Given the description of an element on the screen output the (x, y) to click on. 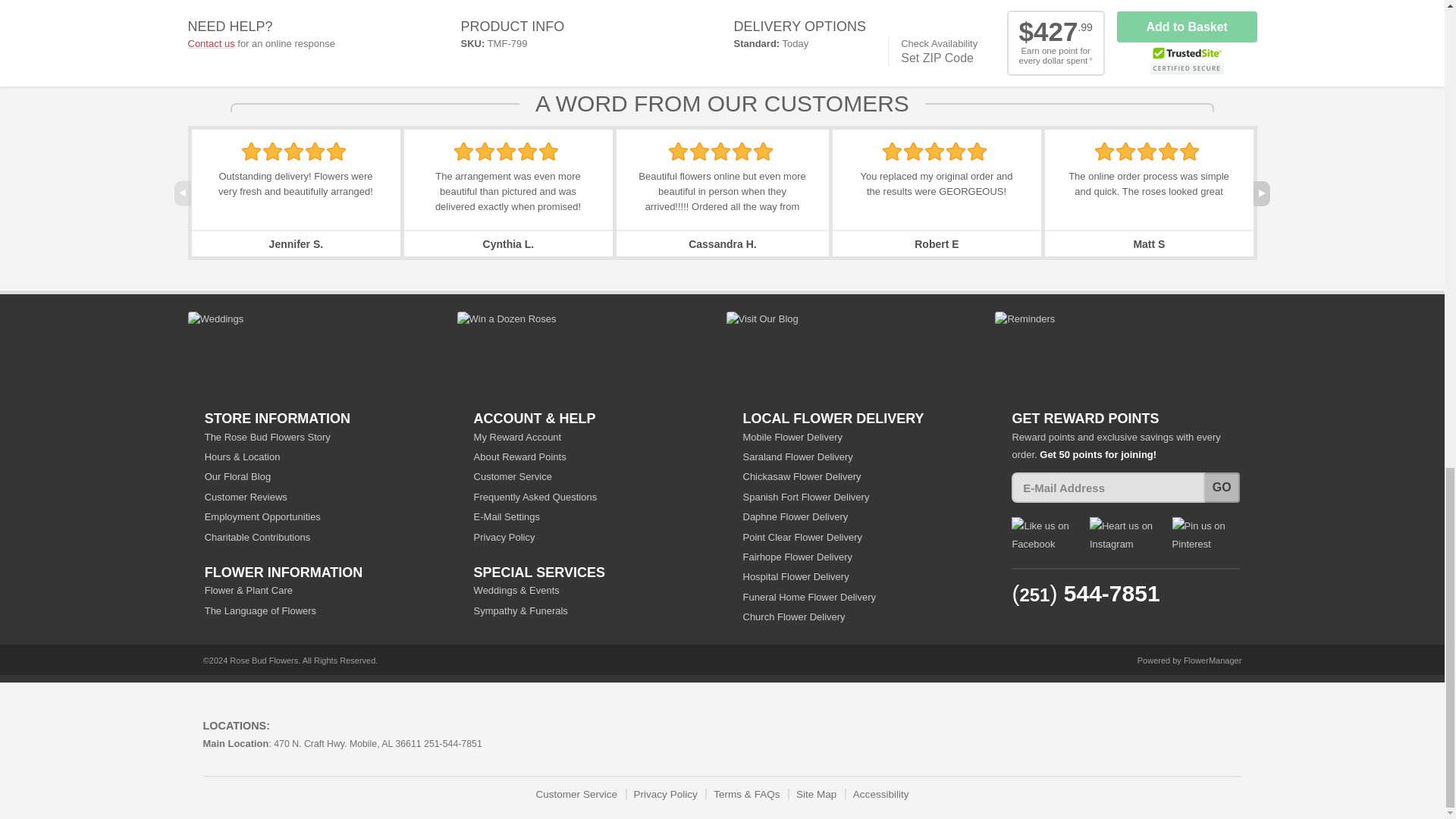
Full Star (527, 151)
Full Star (463, 151)
Full Star (314, 151)
Full Star (677, 151)
Full Star (292, 151)
Full Star (505, 151)
Full Star (336, 151)
Full Star (485, 151)
Full Star (250, 151)
Full Star (547, 151)
Full Star (272, 151)
